Given the description of an element on the screen output the (x, y) to click on. 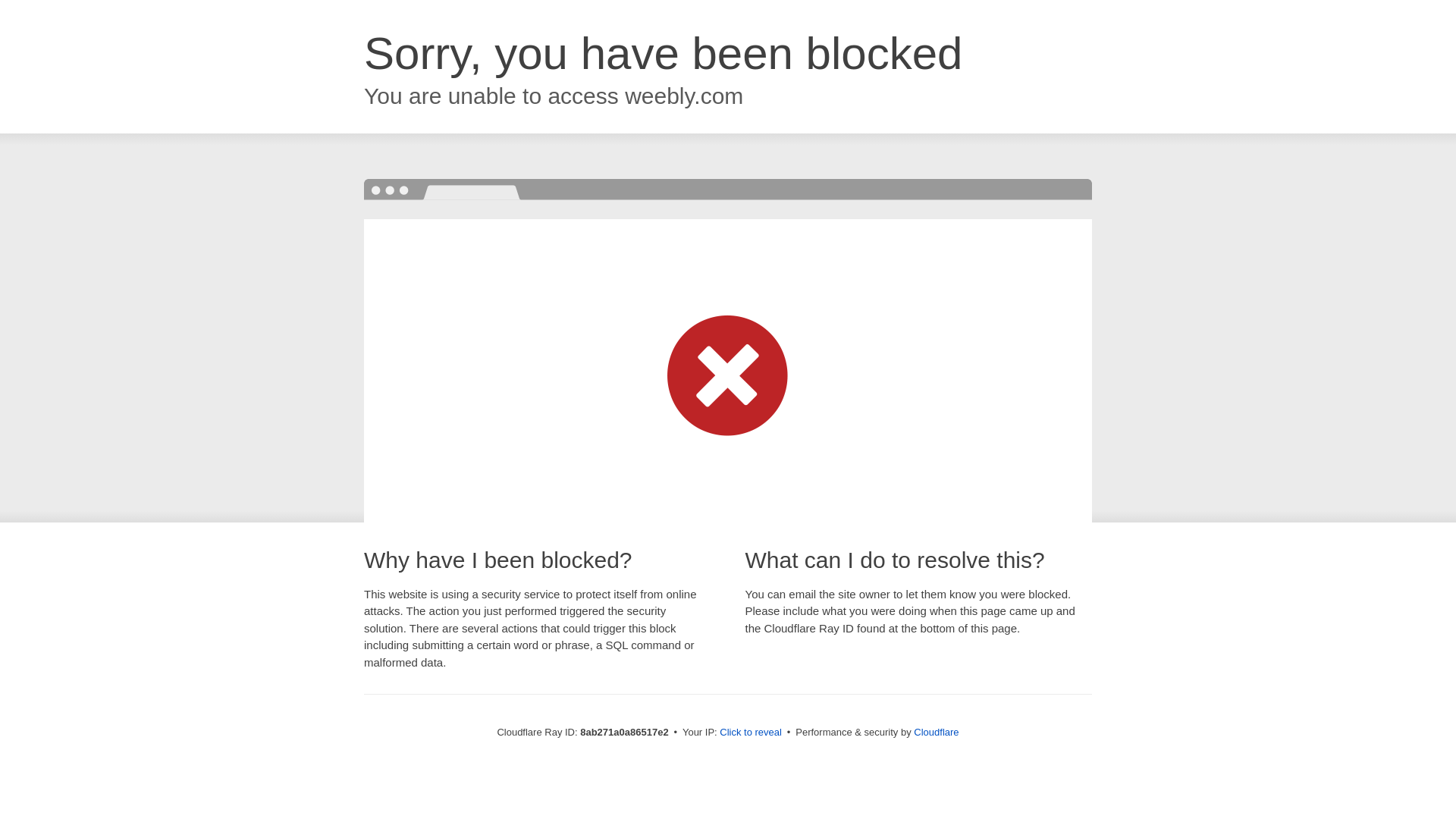
Click to reveal (750, 732)
Cloudflare (936, 731)
